Given the description of an element on the screen output the (x, y) to click on. 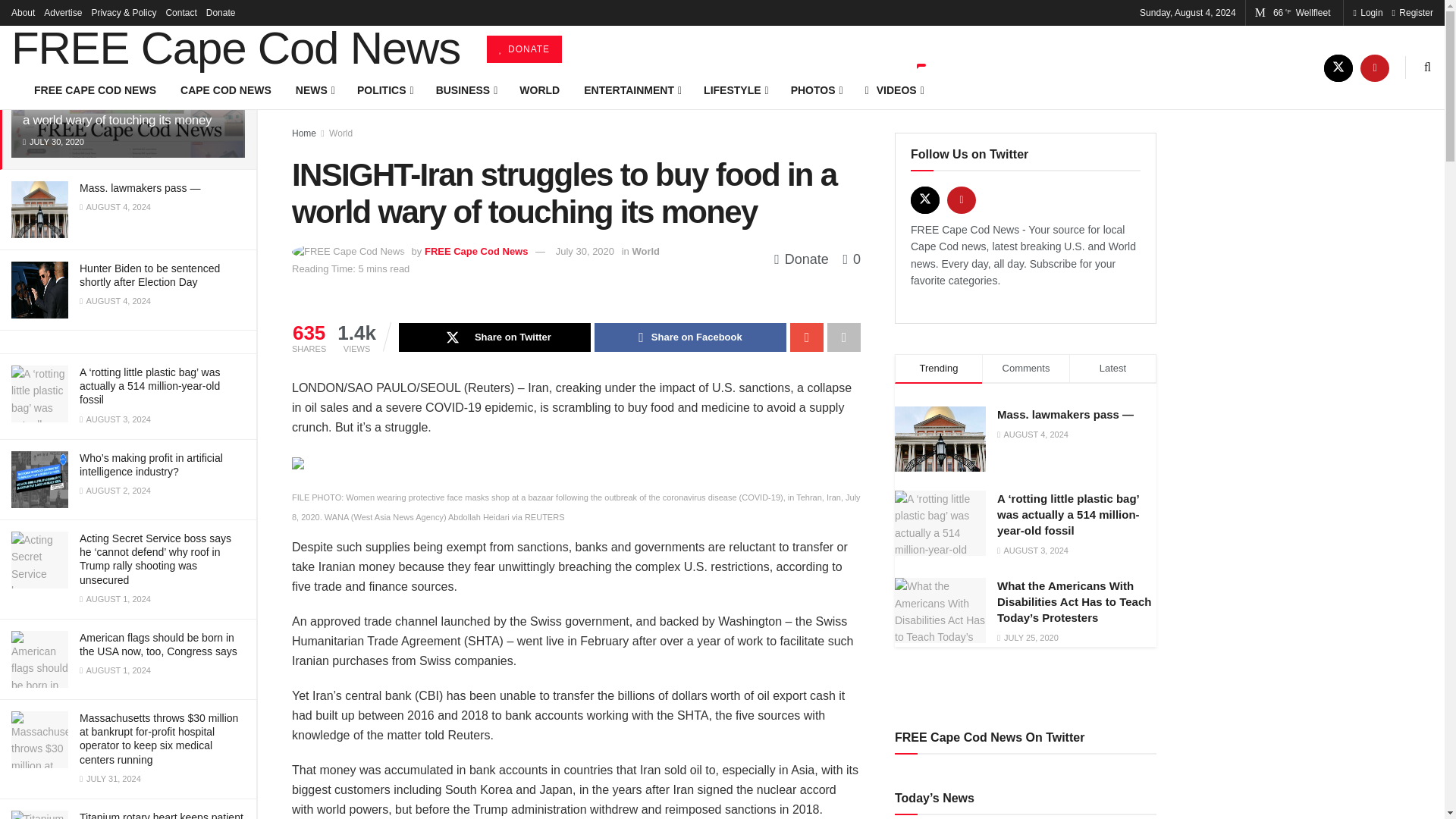
DONATE (524, 49)
FREE Cape Cod News (235, 48)
Filter (227, 13)
Login (1366, 12)
Donate (220, 12)
Register (1411, 12)
About (22, 12)
